Given the description of an element on the screen output the (x, y) to click on. 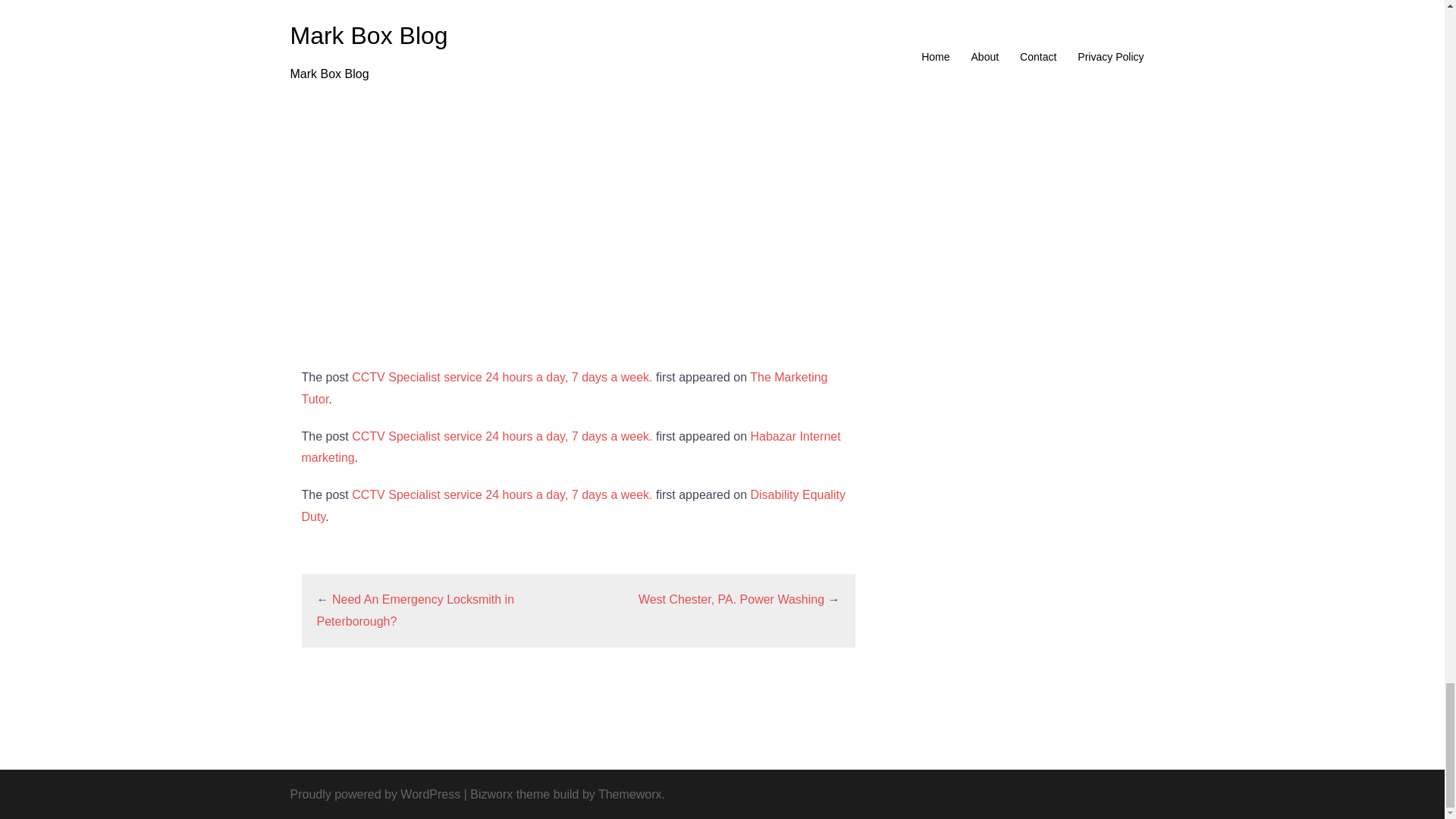
Need An Emergency Locksmith in Peterborough? (416, 610)
Habazar Internet marketing (571, 447)
Disability Equality Duty (573, 505)
CCTV Specialist service 24 hours a day, 7 days a week. (502, 494)
CCTV Specialist service 24 hours a day, 7 days a week. (502, 436)
CCTV Specialist service 24 hours a day, 7 days a week. (502, 377)
West Chester, PA. Power Washing (731, 599)
The Marketing Tutor (564, 388)
